Given the description of an element on the screen output the (x, y) to click on. 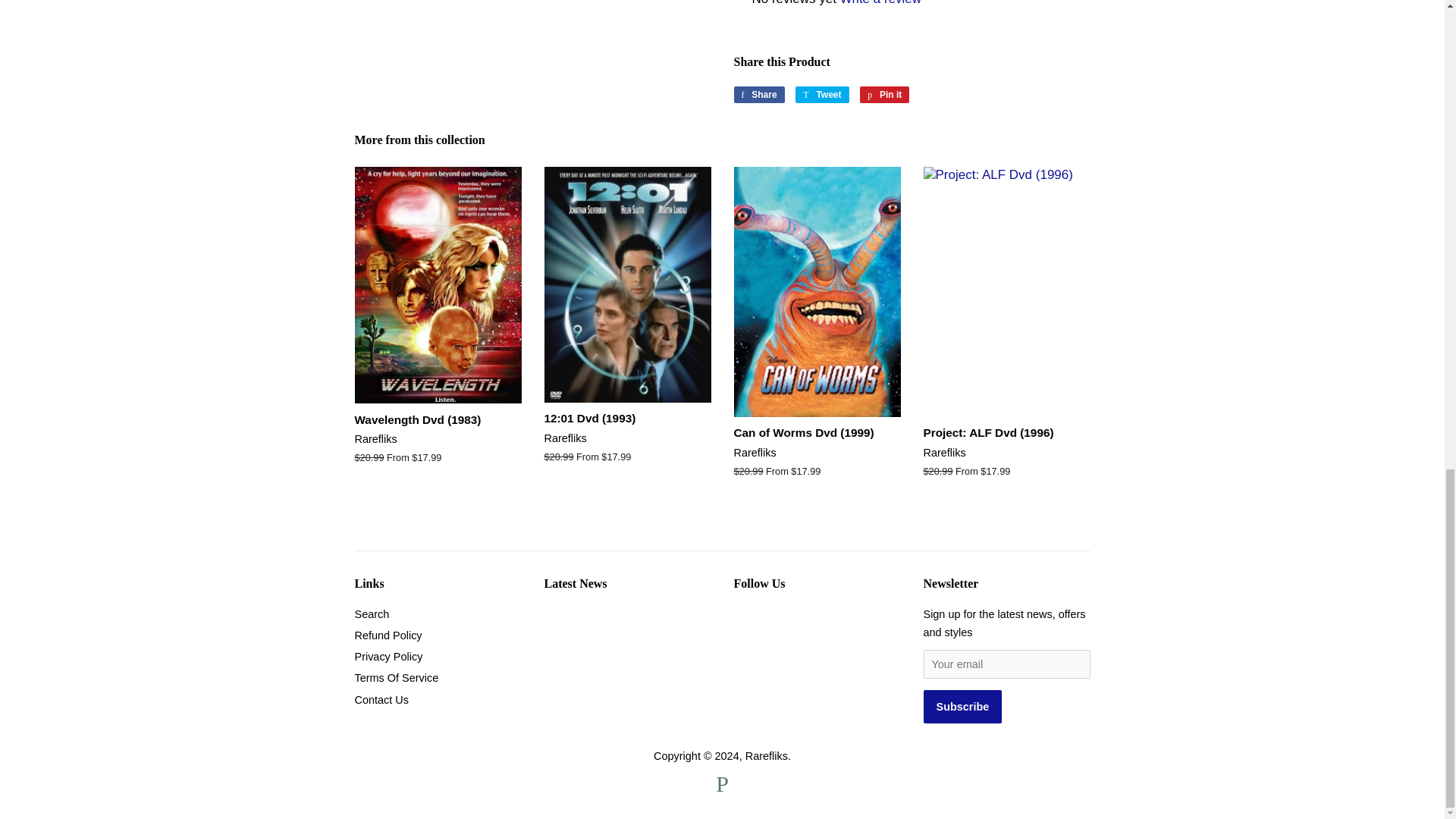
Tweet on Twitter (821, 94)
Subscribe (963, 706)
Share on Facebook (758, 94)
Pin on Pinterest (884, 94)
